Given the description of an element on the screen output the (x, y) to click on. 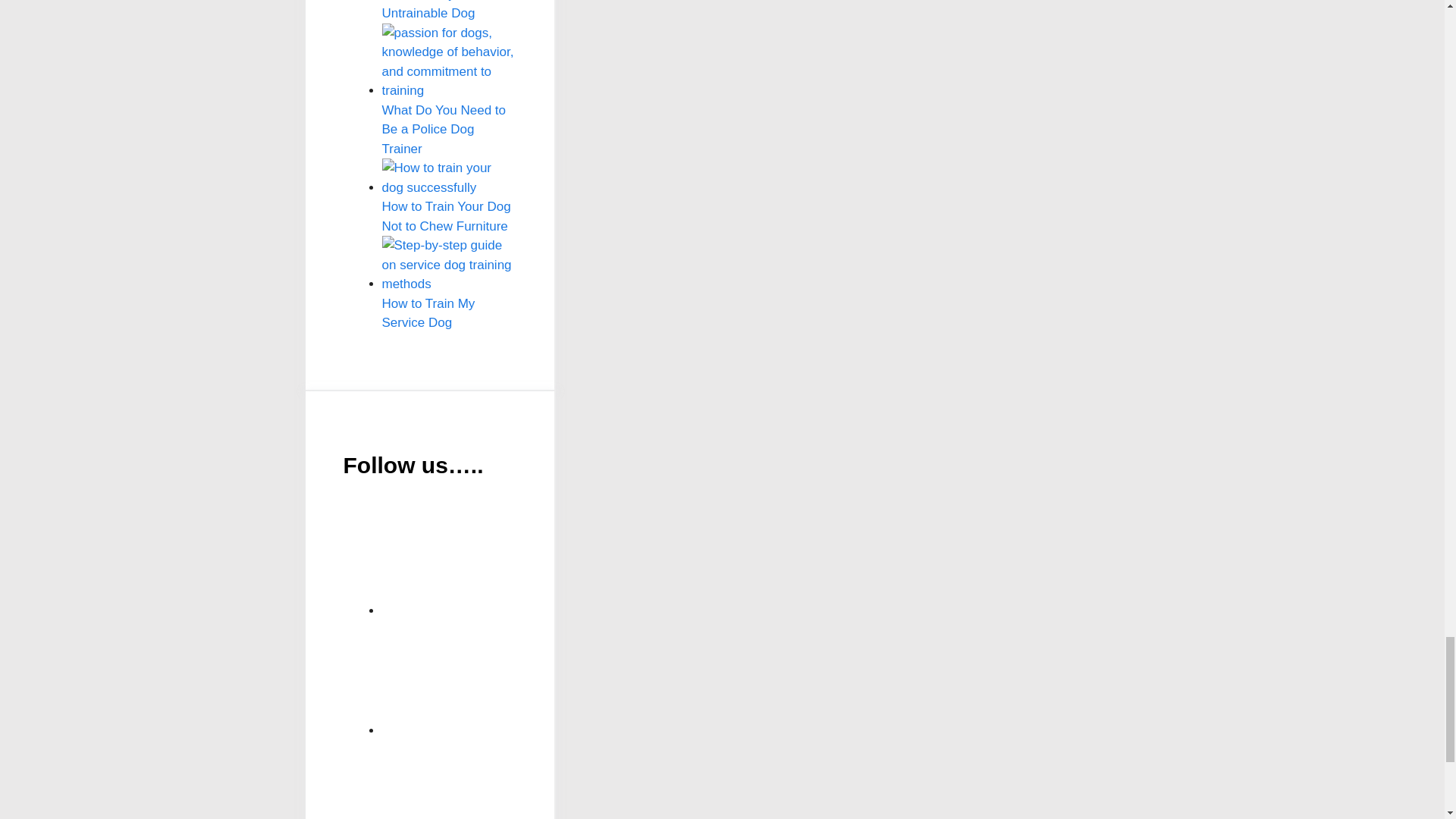
Email (495, 558)
Pinterest (495, 779)
What Do You Need to Be a Police Dog Trainer 6 (448, 61)
How to Train Your Dog Not to Chew Furniture 7 (448, 177)
How to Train My Service Dog 8 (448, 264)
Facebook (495, 677)
